Given the description of an element on the screen output the (x, y) to click on. 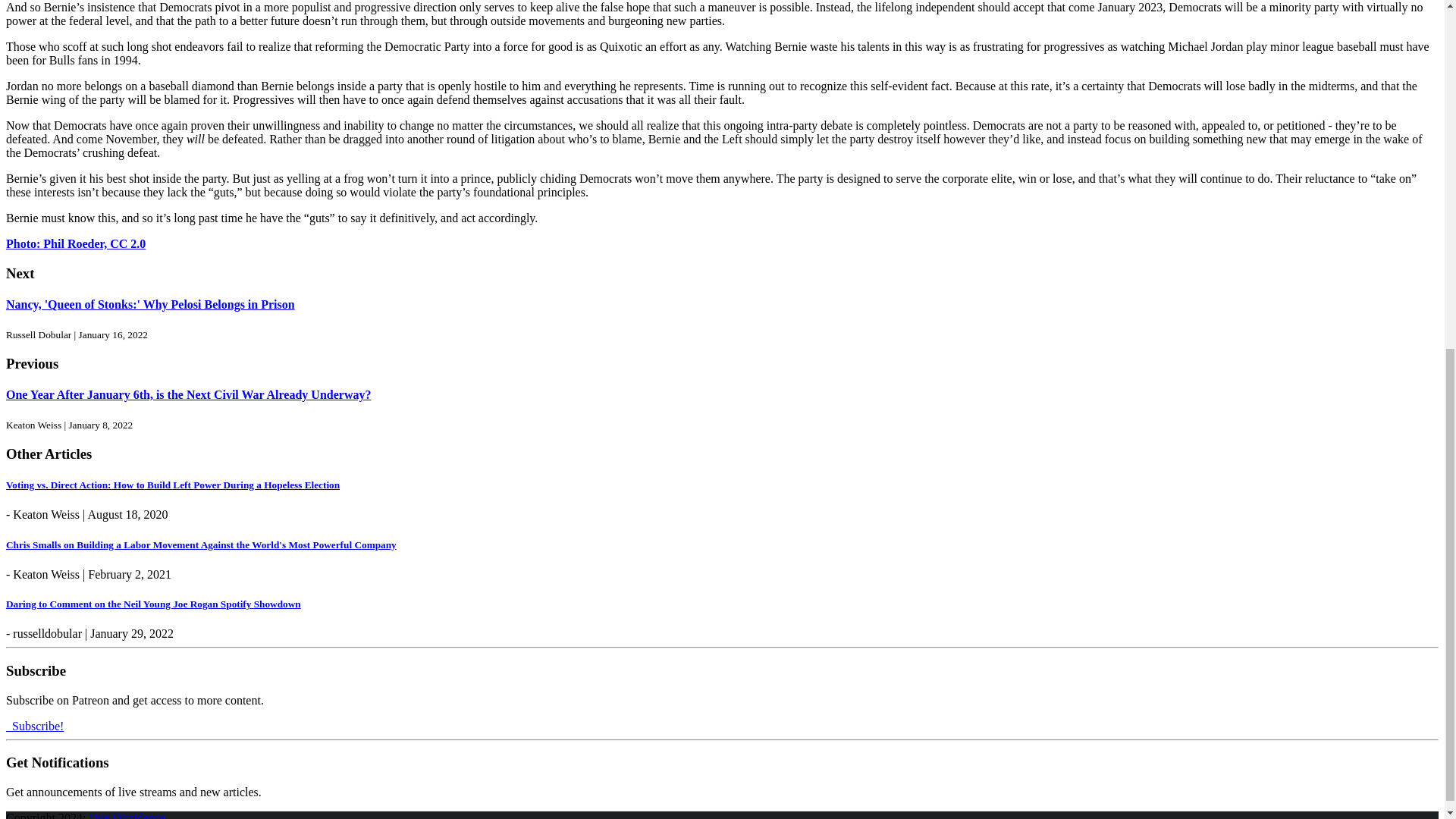
  Subscribe! (34, 725)
Photo: Phil Roeder, CC 2.0 (75, 243)
